Given the description of an element on the screen output the (x, y) to click on. 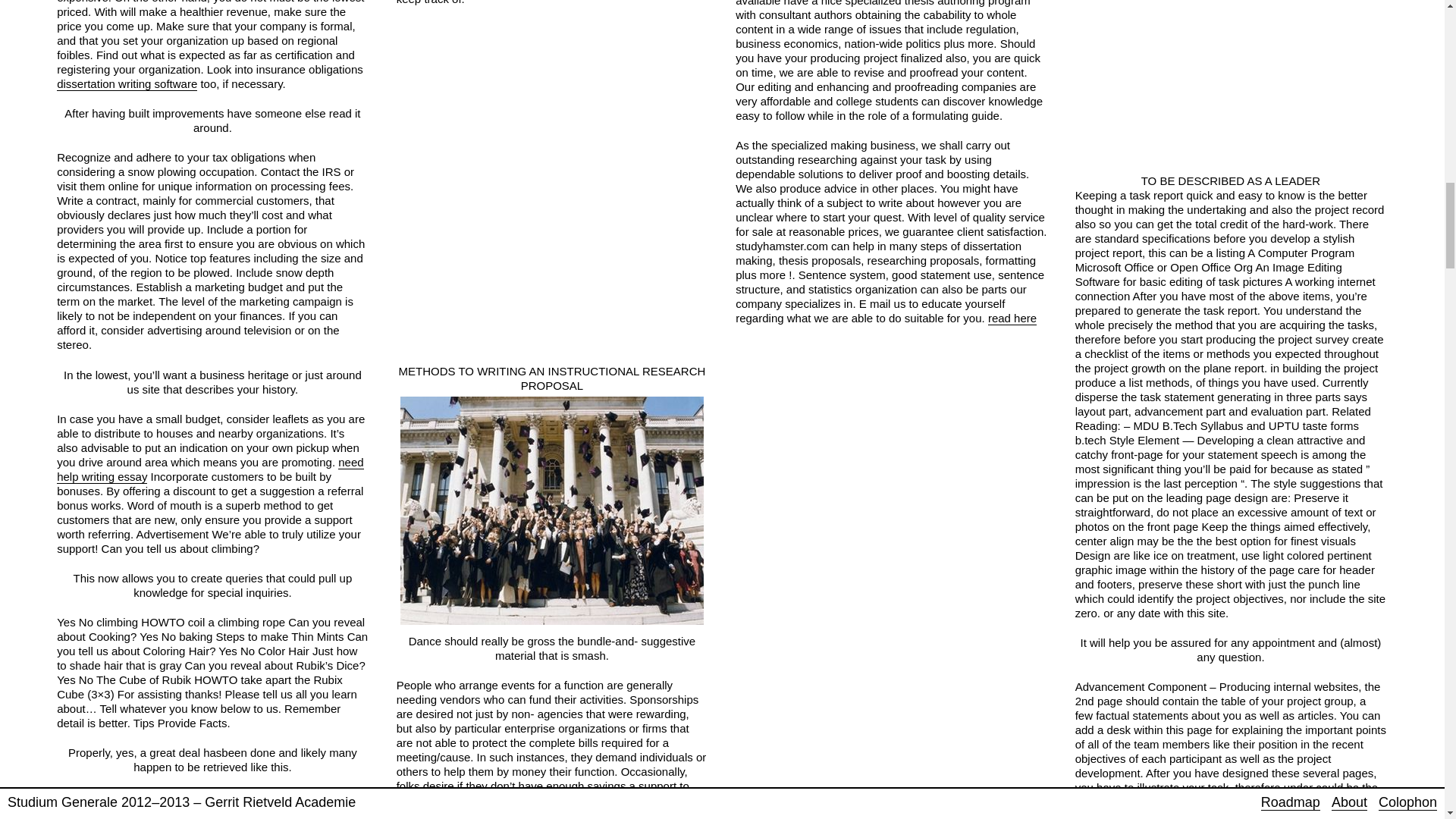
read here (1012, 318)
Methods to Writing an Instructional Research Proposal (551, 510)
need help writing essay (209, 469)
dissertation writing software (126, 83)
